Given the description of an element on the screen output the (x, y) to click on. 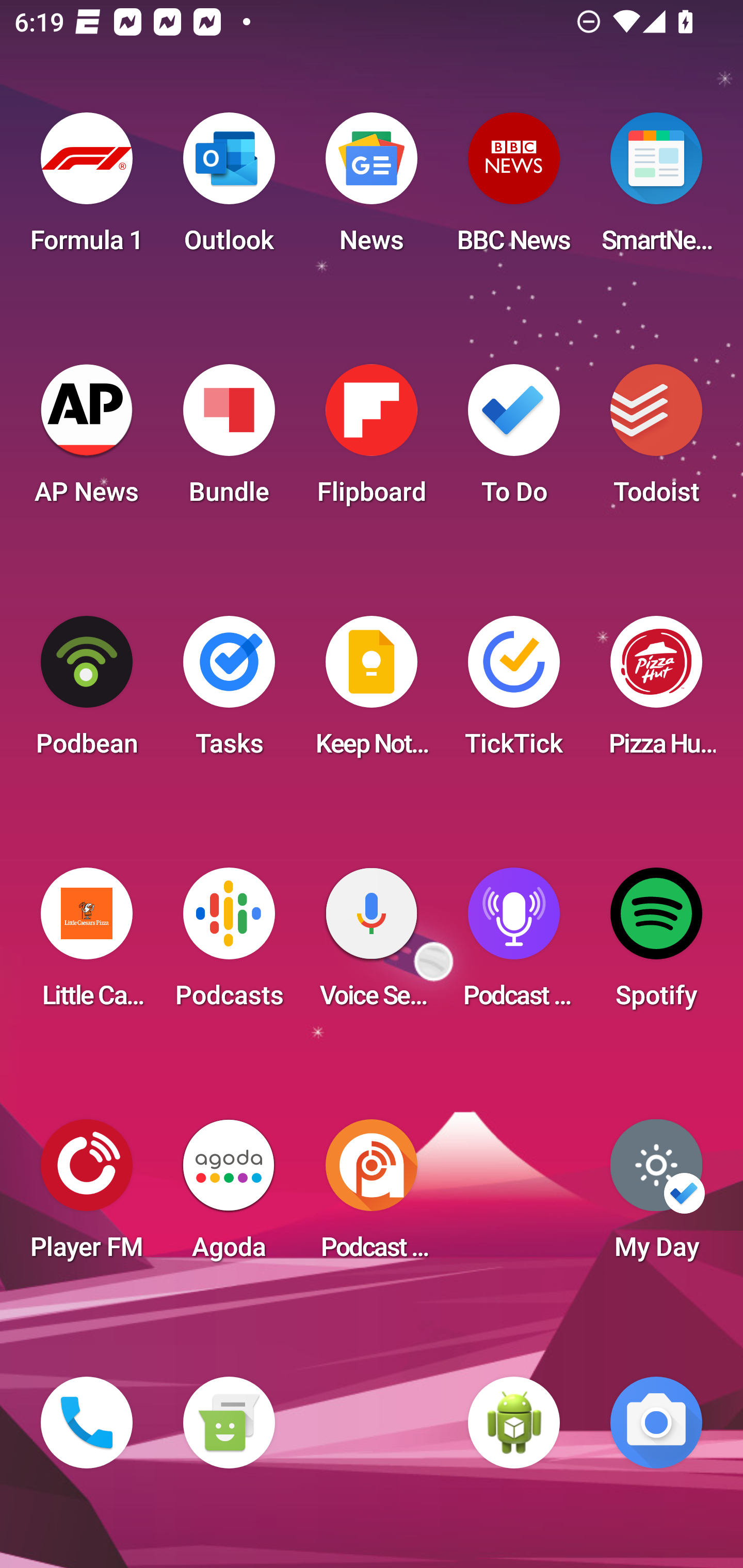
Formula 1 (86, 188)
Outlook (228, 188)
News (371, 188)
BBC News (513, 188)
SmartNews (656, 188)
AP News (86, 440)
Bundle (228, 440)
Flipboard (371, 440)
To Do (513, 440)
Todoist (656, 440)
Podbean (86, 692)
Tasks (228, 692)
Keep Notes (371, 692)
TickTick (513, 692)
Pizza Hut HK & Macau (656, 692)
Little Caesars Pizza (86, 943)
Podcasts (228, 943)
Voice Search (371, 943)
Podcast Player (513, 943)
Spotify (656, 943)
Player FM (86, 1195)
Agoda (228, 1195)
Podcast Addict (371, 1195)
My Day (656, 1195)
Phone (86, 1422)
Messaging (228, 1422)
WebView Browser Tester (513, 1422)
Camera (656, 1422)
